Given the description of an element on the screen output the (x, y) to click on. 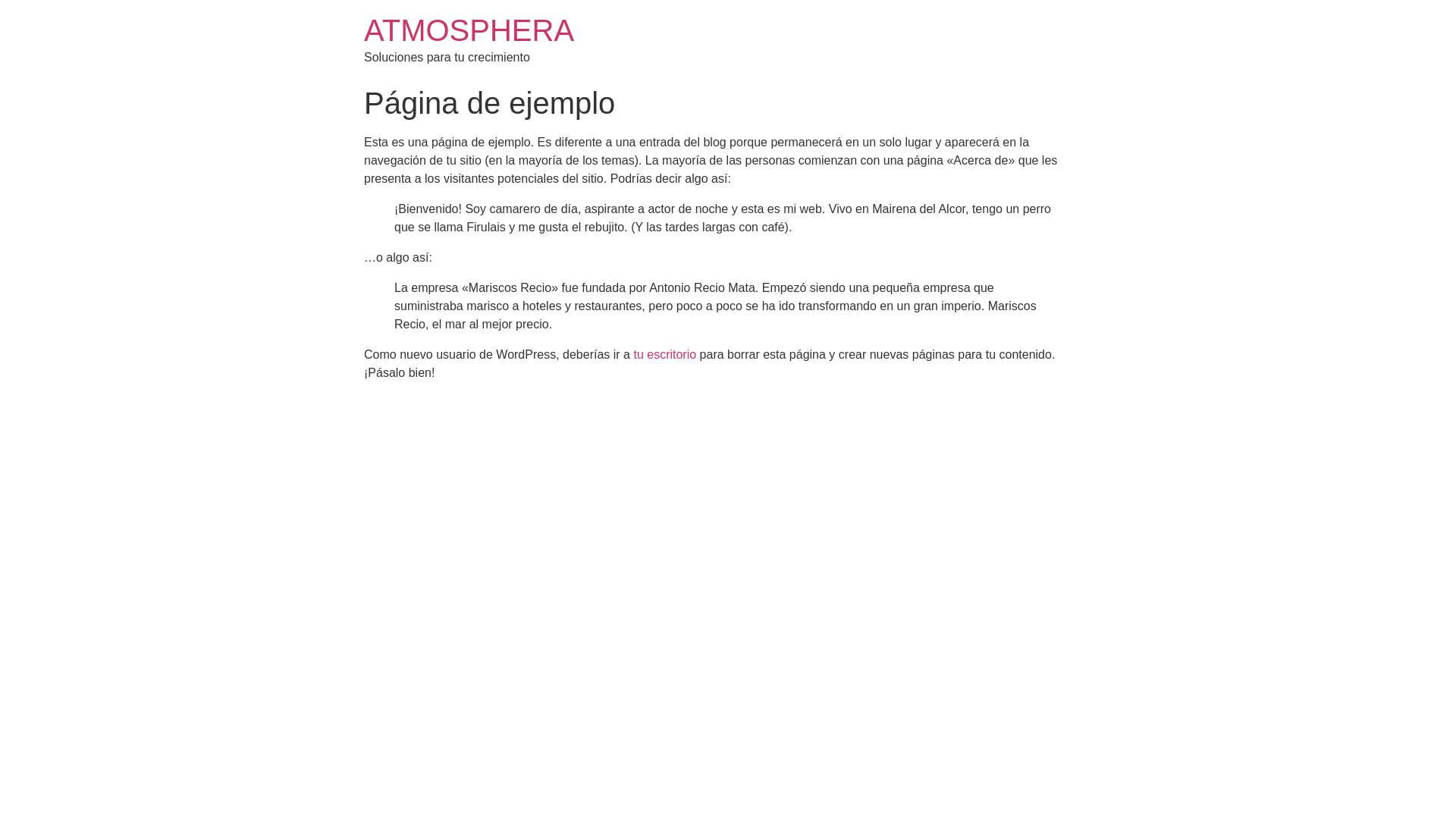
tu escritorio Element type: text (664, 354)
ATMOSPHERA Element type: text (469, 30)
